Given the description of an element on the screen output the (x, y) to click on. 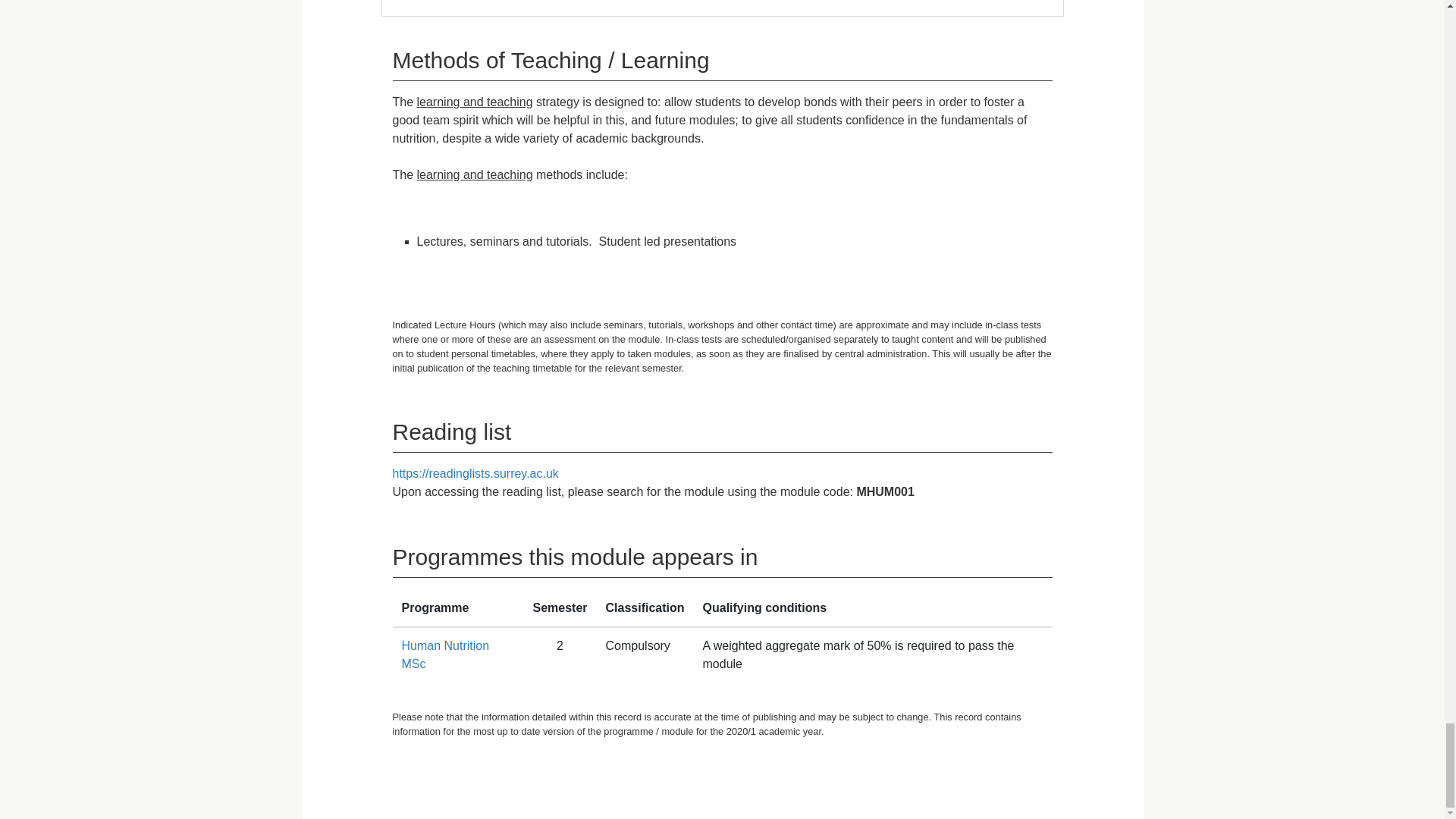
Human Nutrition MSc (445, 654)
